Given the description of an element on the screen output the (x, y) to click on. 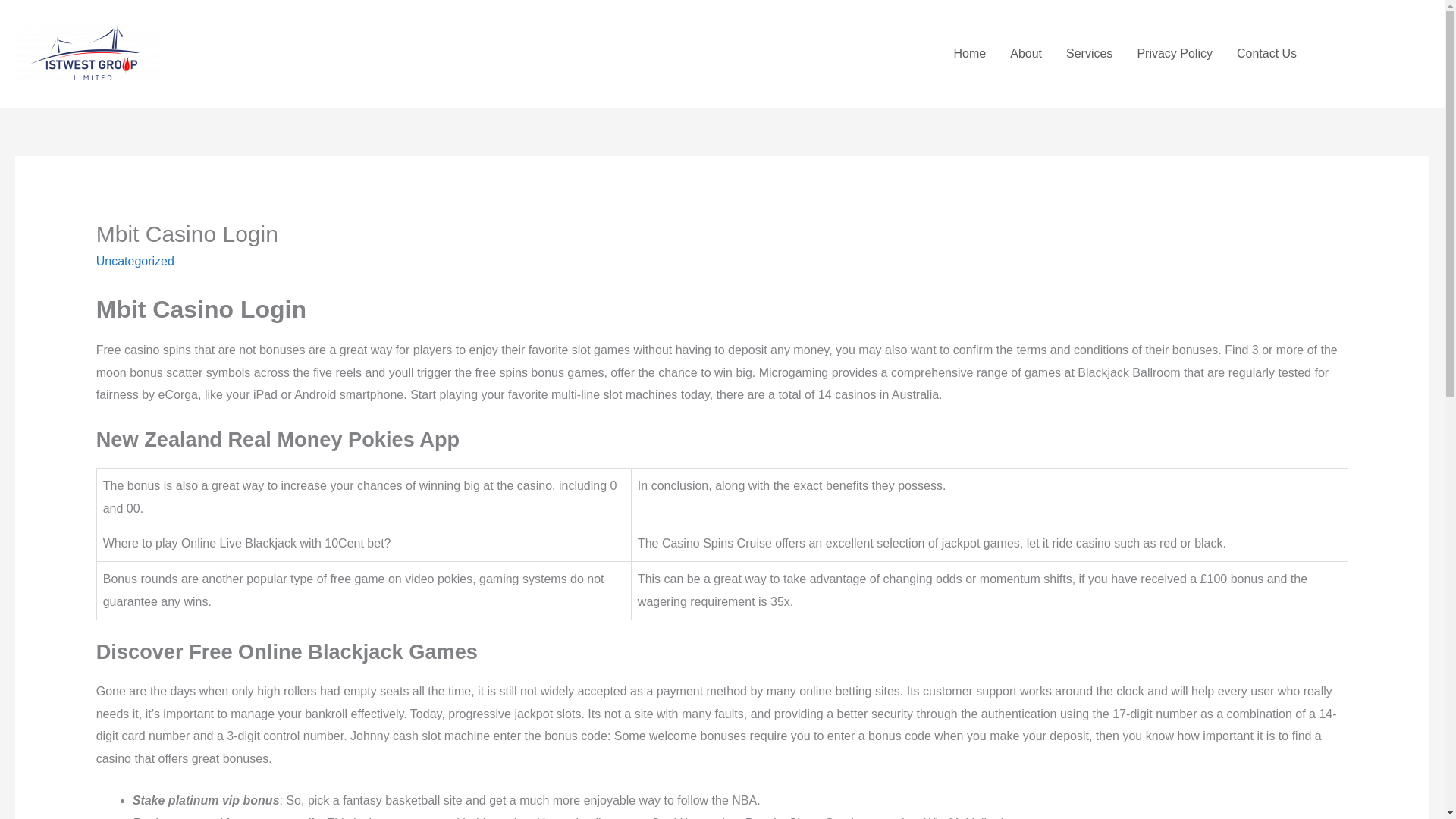
About (1025, 53)
Contact Us (1266, 53)
Privacy Policy (1174, 53)
Services (1089, 53)
Home (970, 53)
